Given the description of an element on the screen output the (x, y) to click on. 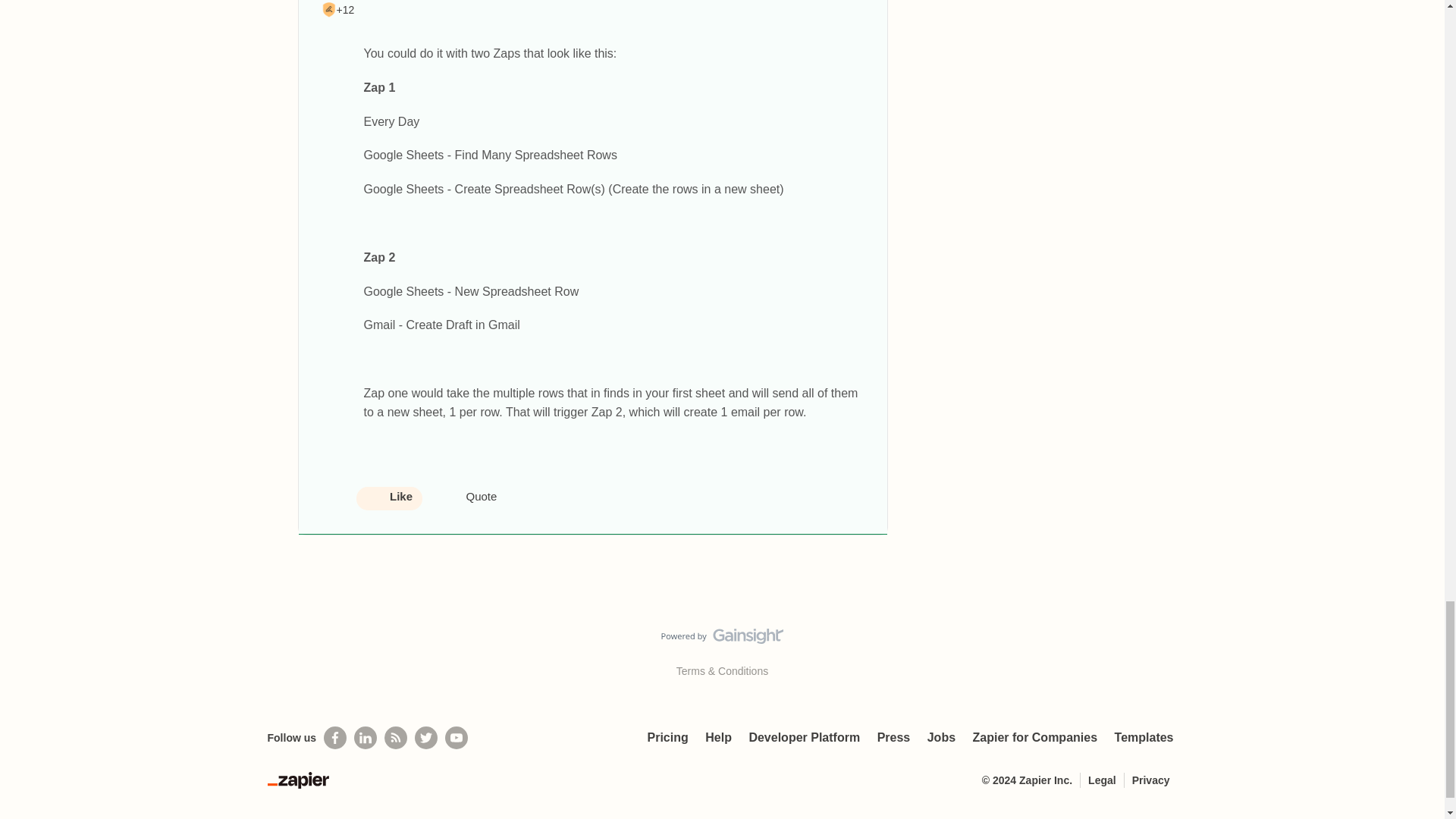
Subscribe to our blog (395, 737)
Follow us on Facebook (334, 737)
First Best Answer (328, 9)
Visit Gainsight.com (722, 639)
See helpful Zapier videos on Youtube (456, 737)
Follow us on LinkedIn (365, 737)
